Given the description of an element on the screen output the (x, y) to click on. 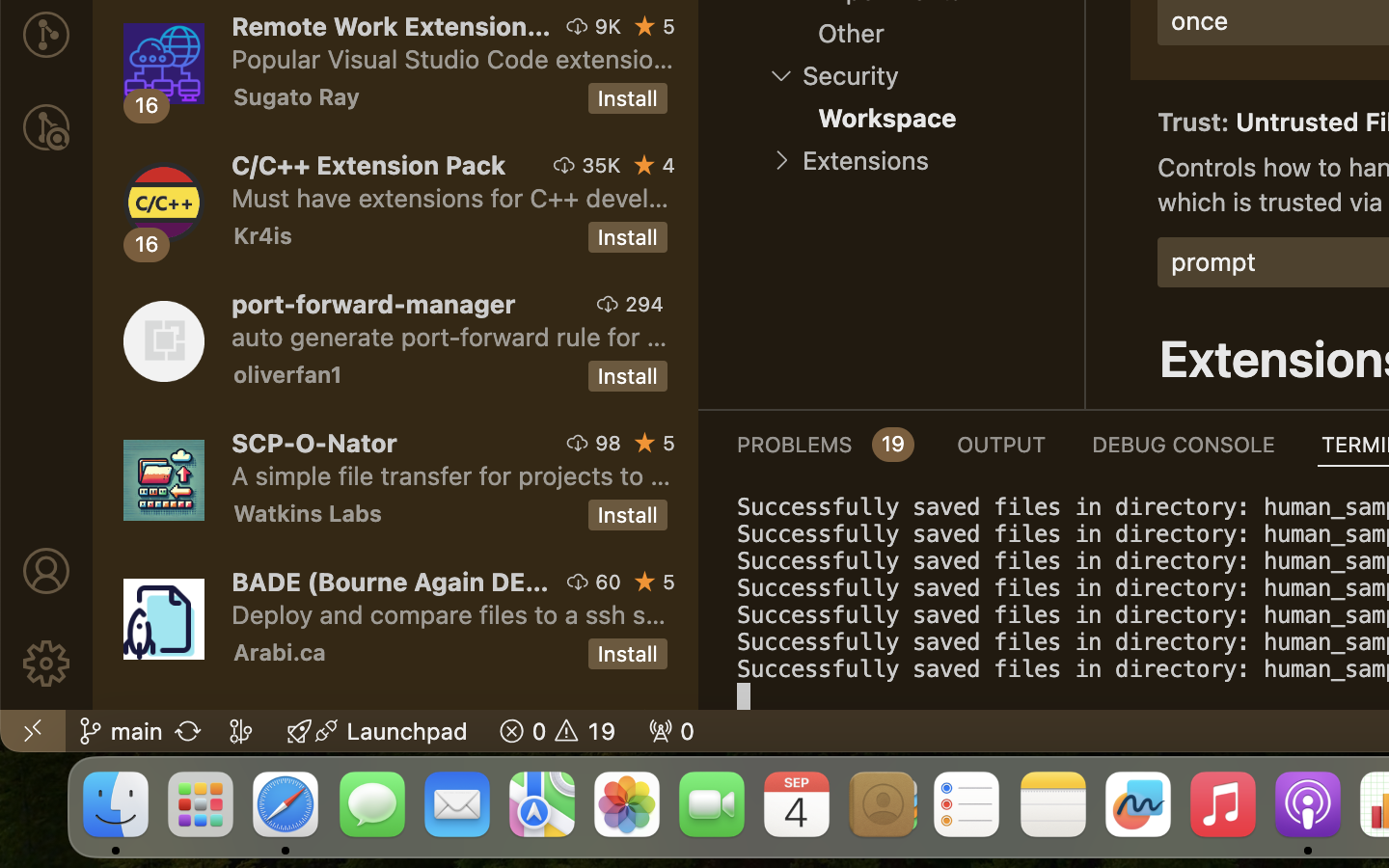
 0 Element type: AXButton (671, 730)
Workspace Element type: AXStaticText (886, 118)
port-forward-manager Element type: AXStaticText (374, 303)
19  0  Element type: AXButton (557, 730)
 Element type: AXStaticText (1108, 117)
